Given the description of an element on the screen output the (x, y) to click on. 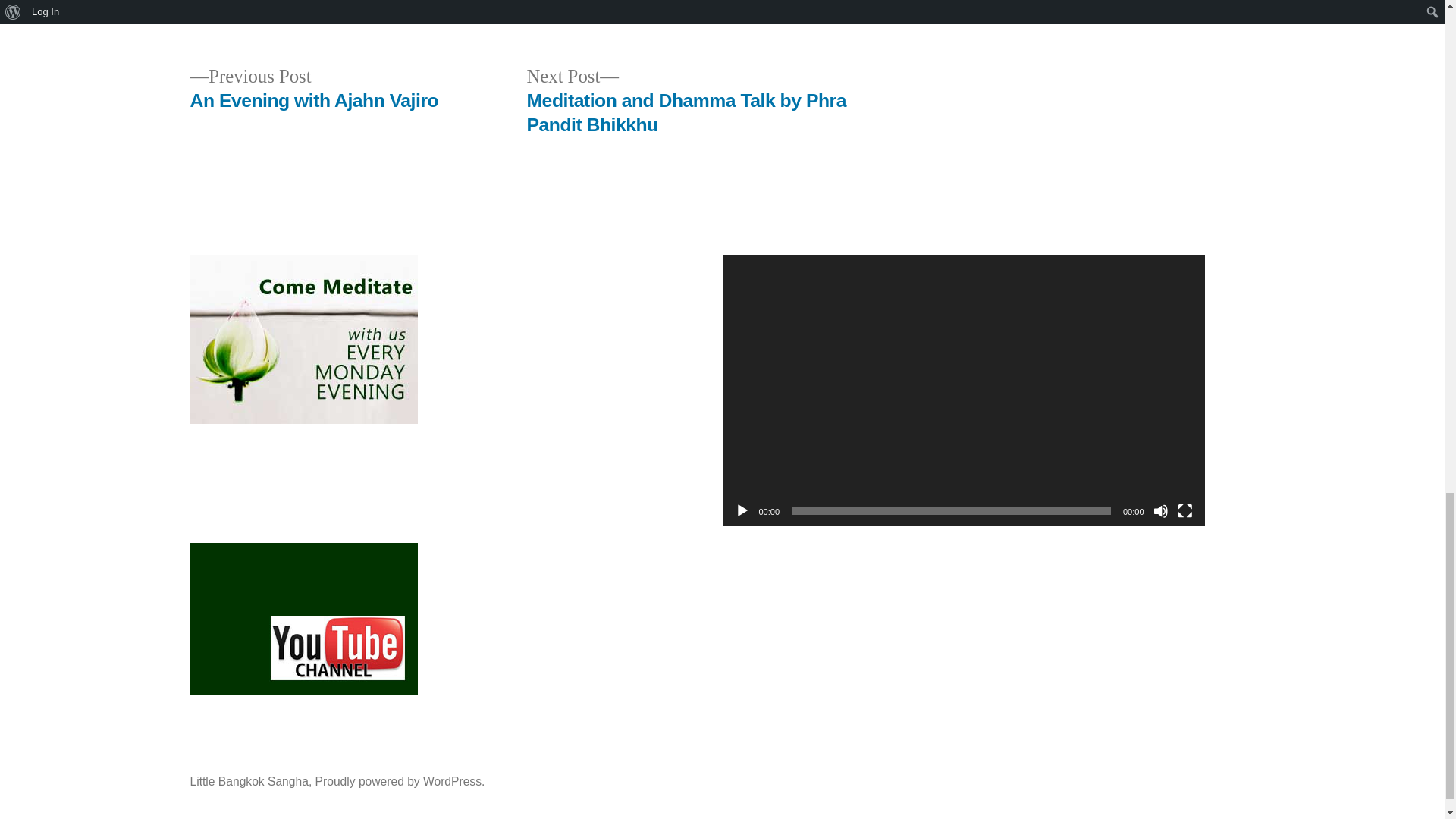
meditaiton (772, 5)
Play (741, 510)
sitting for peace (847, 5)
dhamma talk (609, 5)
Little Bangkok Sangha (248, 780)
Bangkok Dhamma (520, 5)
Mute (1160, 510)
Fullscreen (1184, 510)
Proudly powered by WordPress. (399, 780)
